Given the description of an element on the screen output the (x, y) to click on. 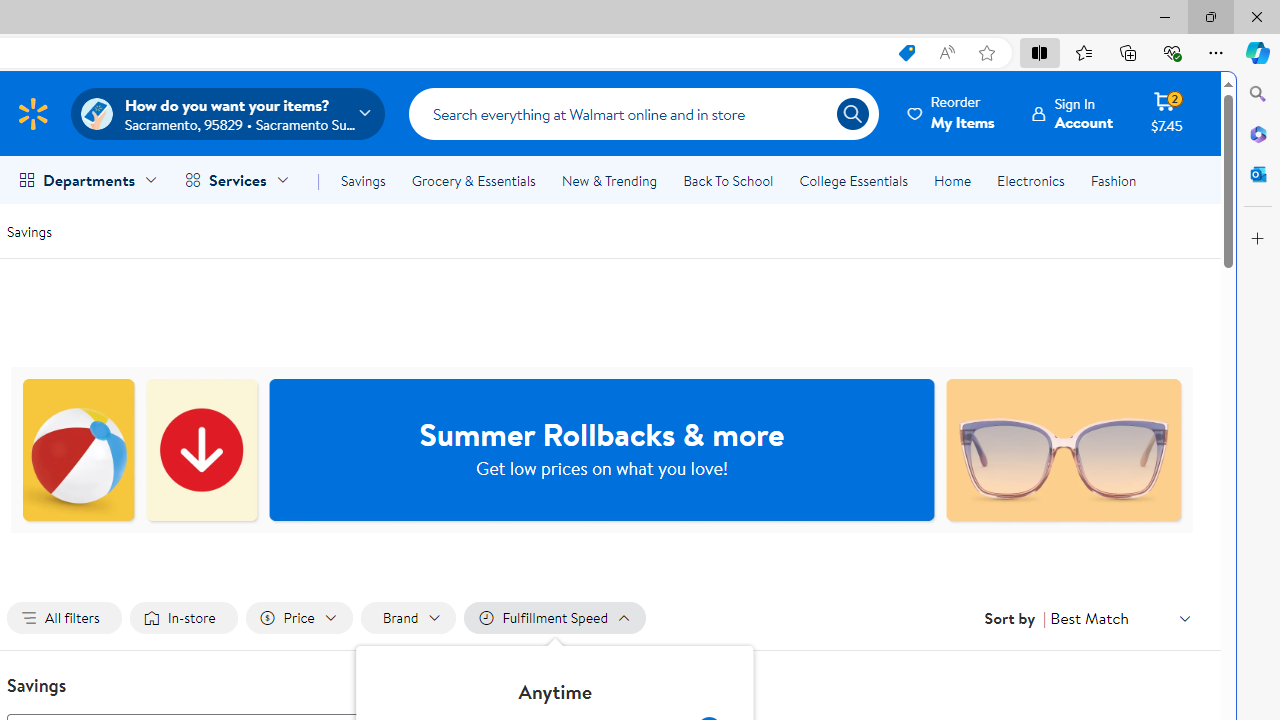
Sign InAccount (1072, 113)
Reorder My Items (952, 113)
Walmart Homepage (32, 113)
Grocery & Essentials (473, 180)
New & Trending (608, 180)
Electronics (1030, 180)
Class: ld ld-ChevronDown pa0 ml6 (1184, 618)
